Given the description of an element on the screen output the (x, y) to click on. 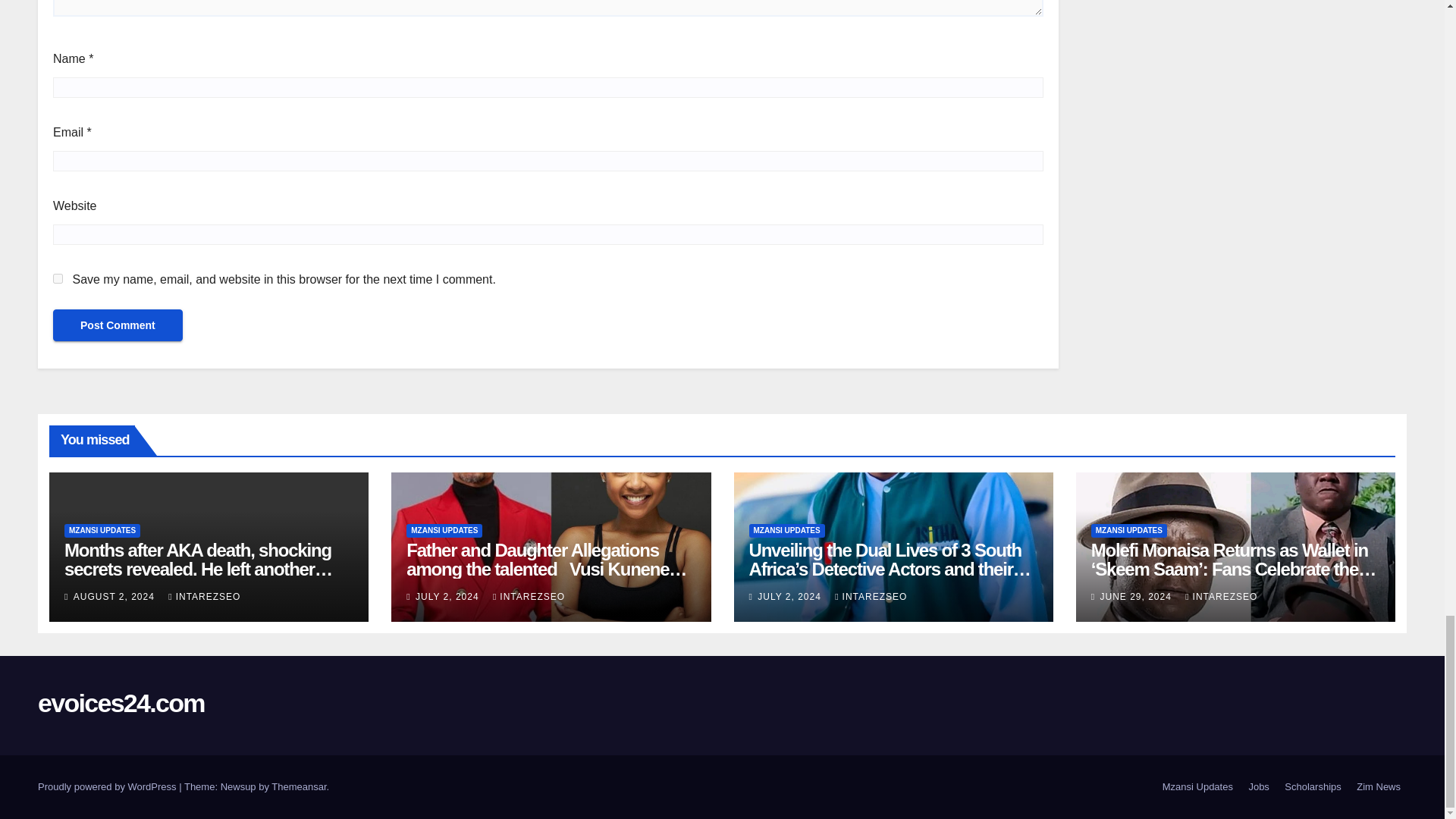
Post Comment (117, 325)
Mzansi Updates (1197, 786)
yes (57, 278)
